Given the description of an element on the screen output the (x, y) to click on. 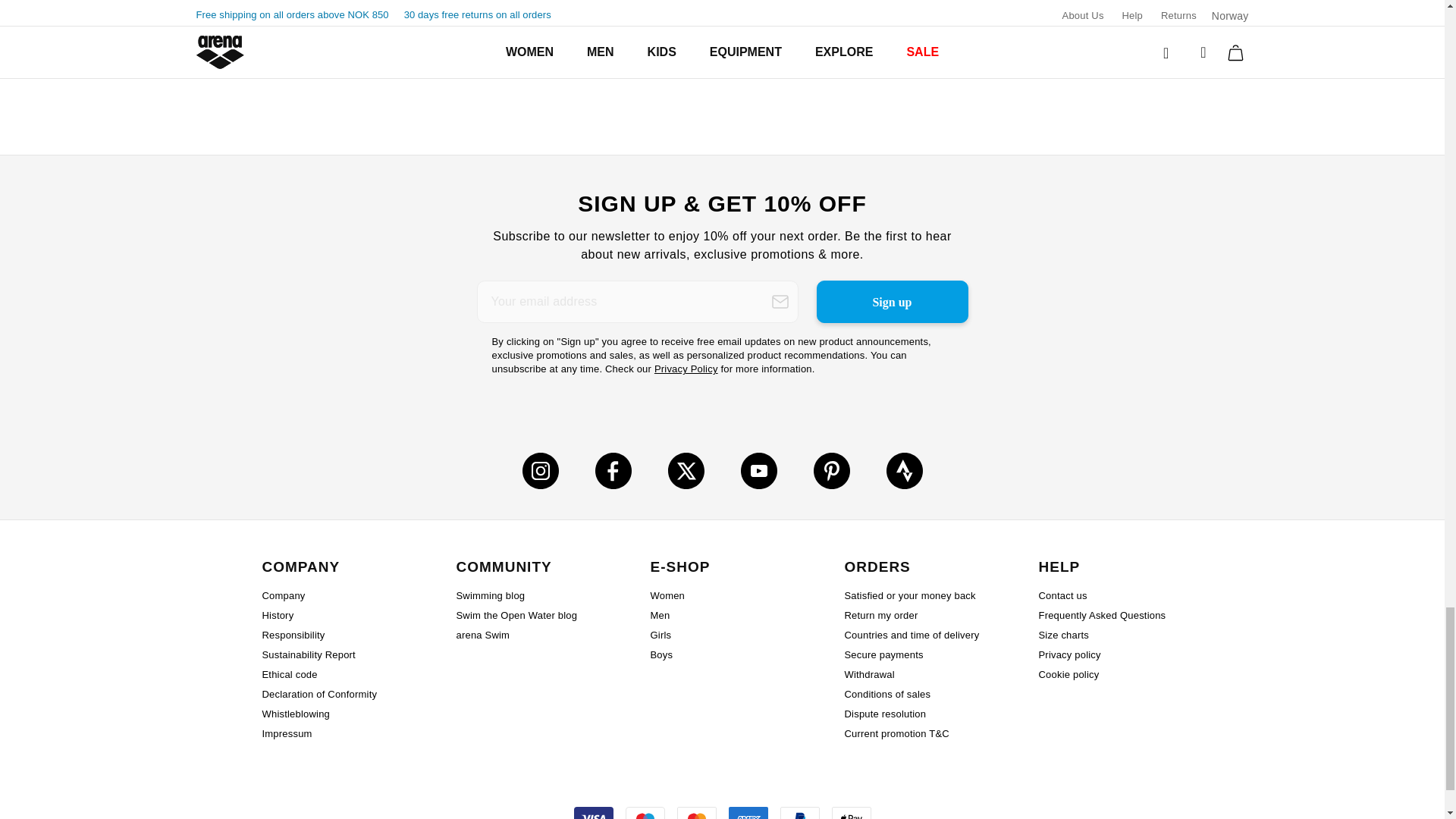
Sign up (891, 301)
